Given the description of an element on the screen output the (x, y) to click on. 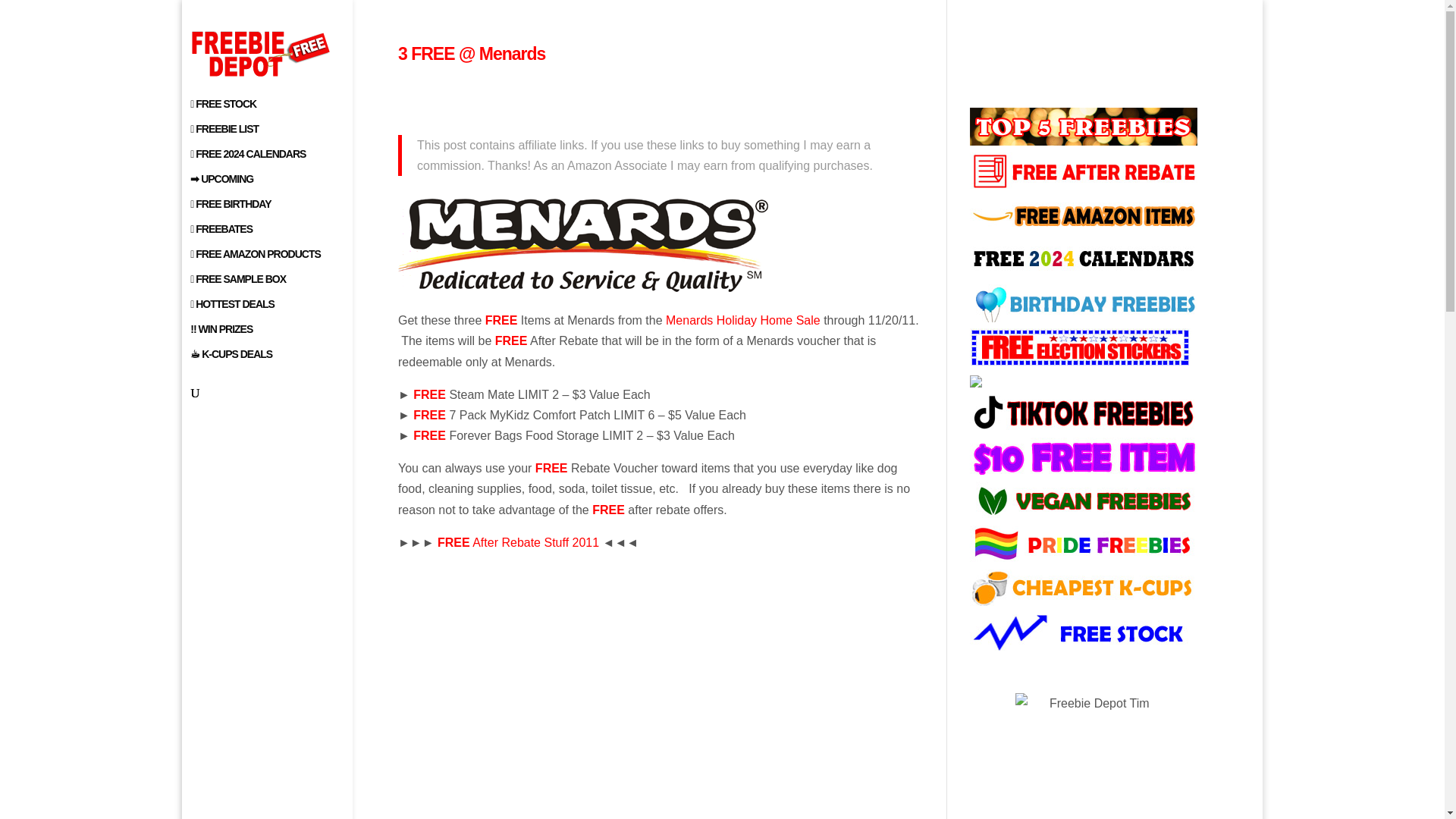
Menards Freebies (582, 245)
Top FREE Sample Boxes by Mail Monthly (282, 285)
Menards Holiday Home Sale (743, 319)
FREE After Rebate Stuff (520, 542)
FREE After Rebate Stuff 2011  (520, 542)
